Given the description of an element on the screen output the (x, y) to click on. 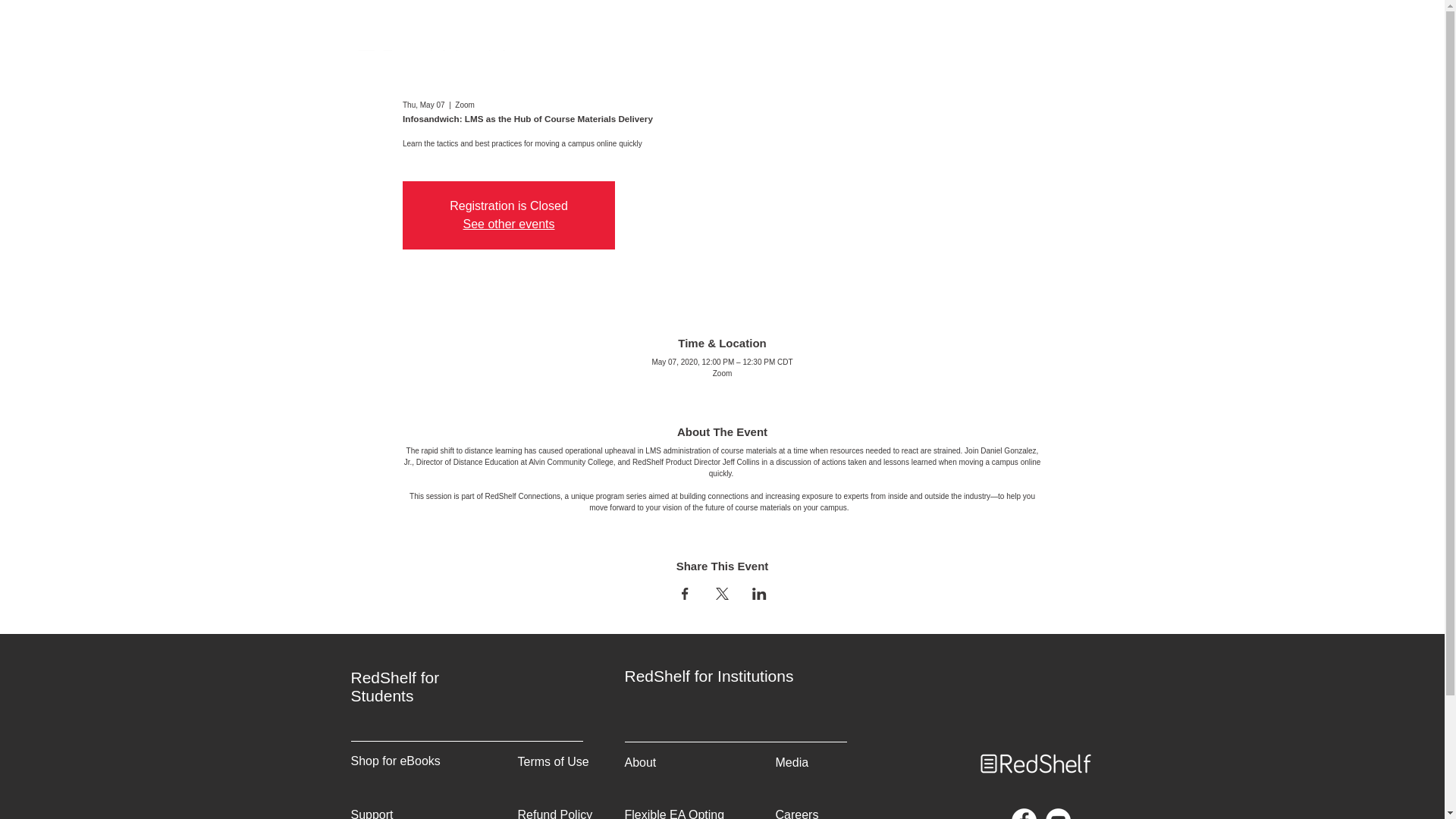
Flexible EA Opting (674, 813)
About (640, 762)
See other events (508, 223)
Support (371, 813)
Contact Us (924, 73)
Refund Policy (554, 813)
Why RedShelf? (758, 73)
Log In (1060, 73)
Careers (796, 813)
About (593, 73)
